Given the description of an element on the screen output the (x, y) to click on. 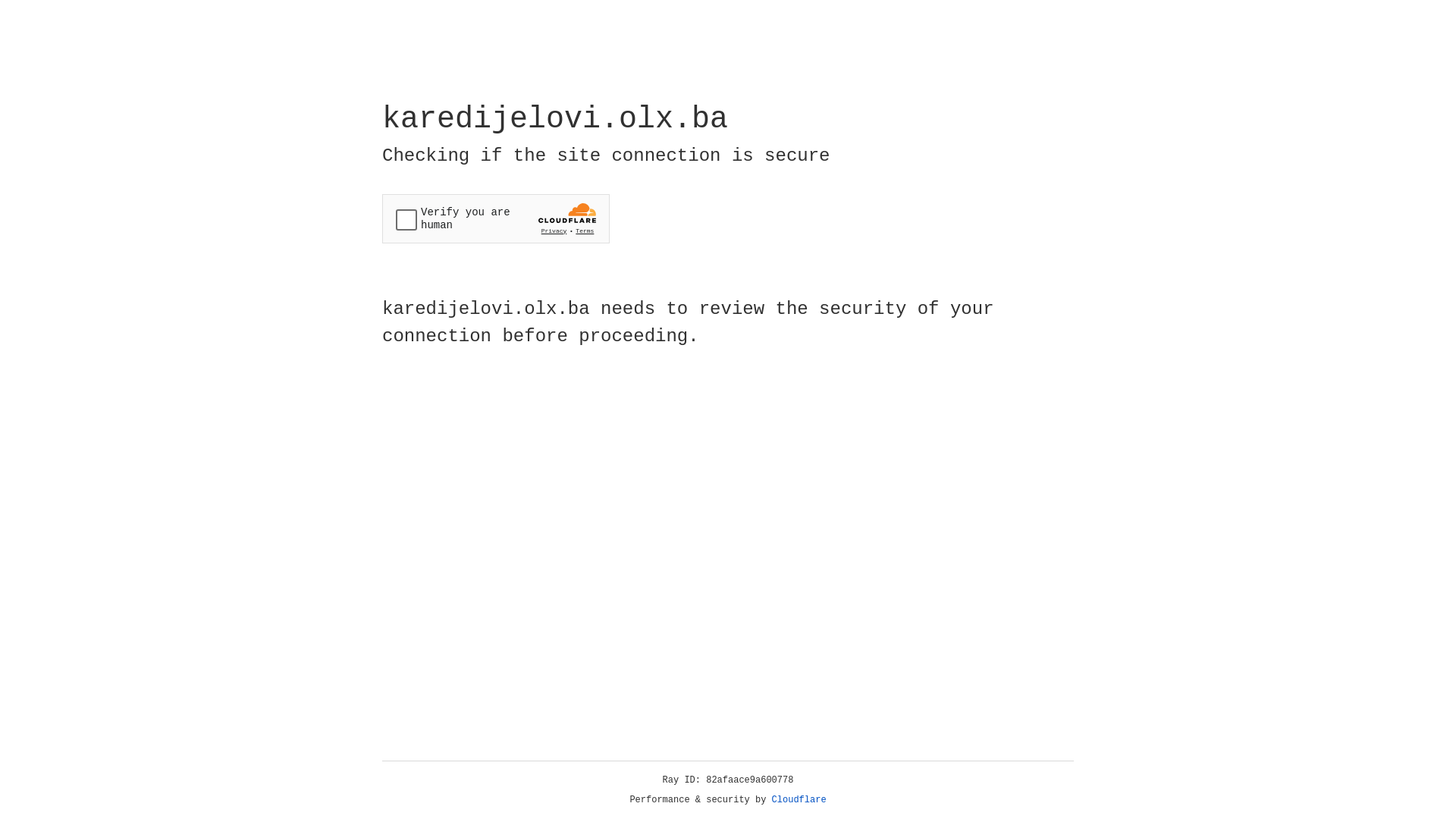
Widget containing a Cloudflare security challenge Element type: hover (495, 218)
Cloudflare Element type: text (798, 799)
